Given the description of an element on the screen output the (x, y) to click on. 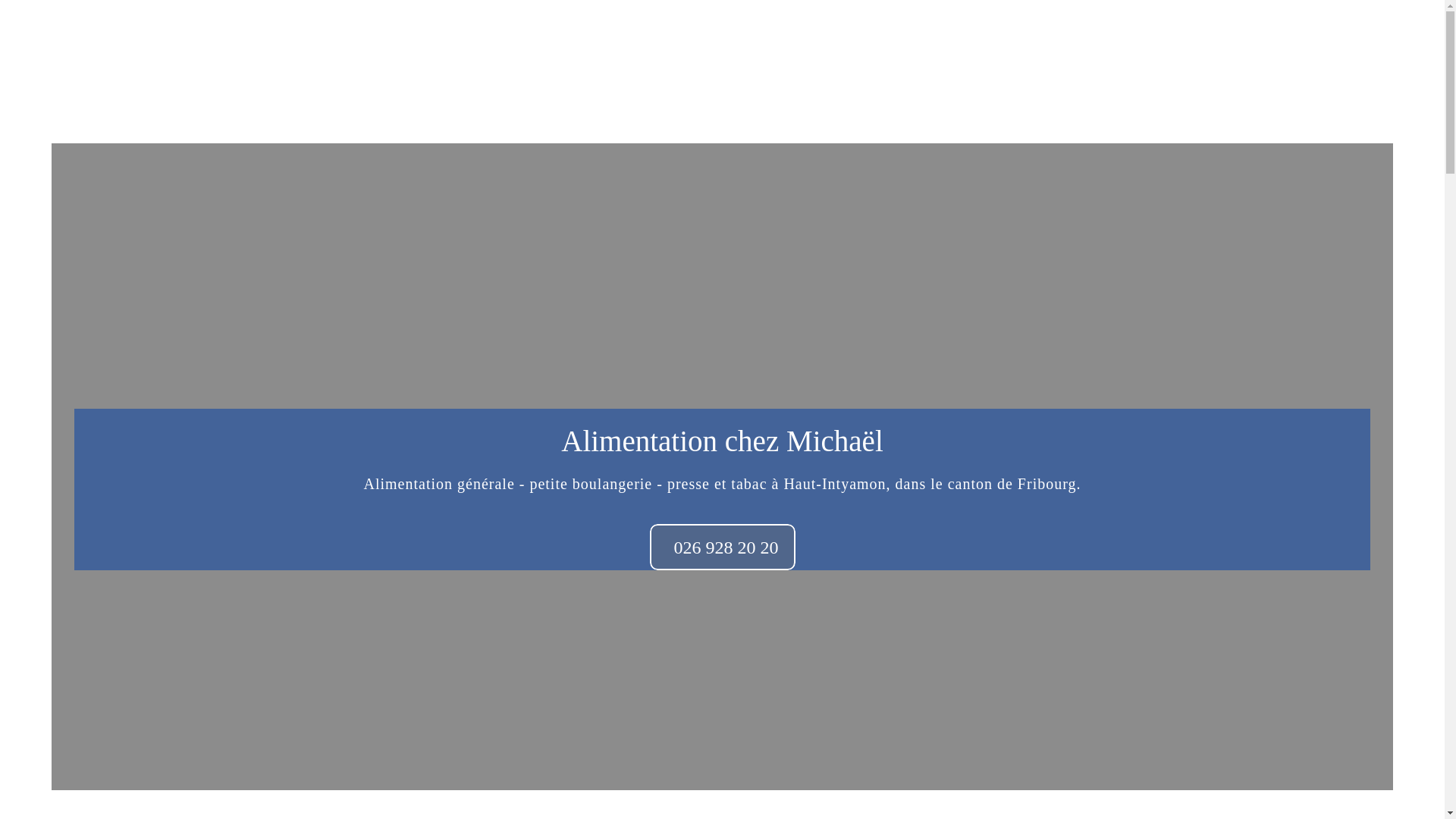
026 928 20 20 Element type: text (721, 547)
